Given the description of an element on the screen output the (x, y) to click on. 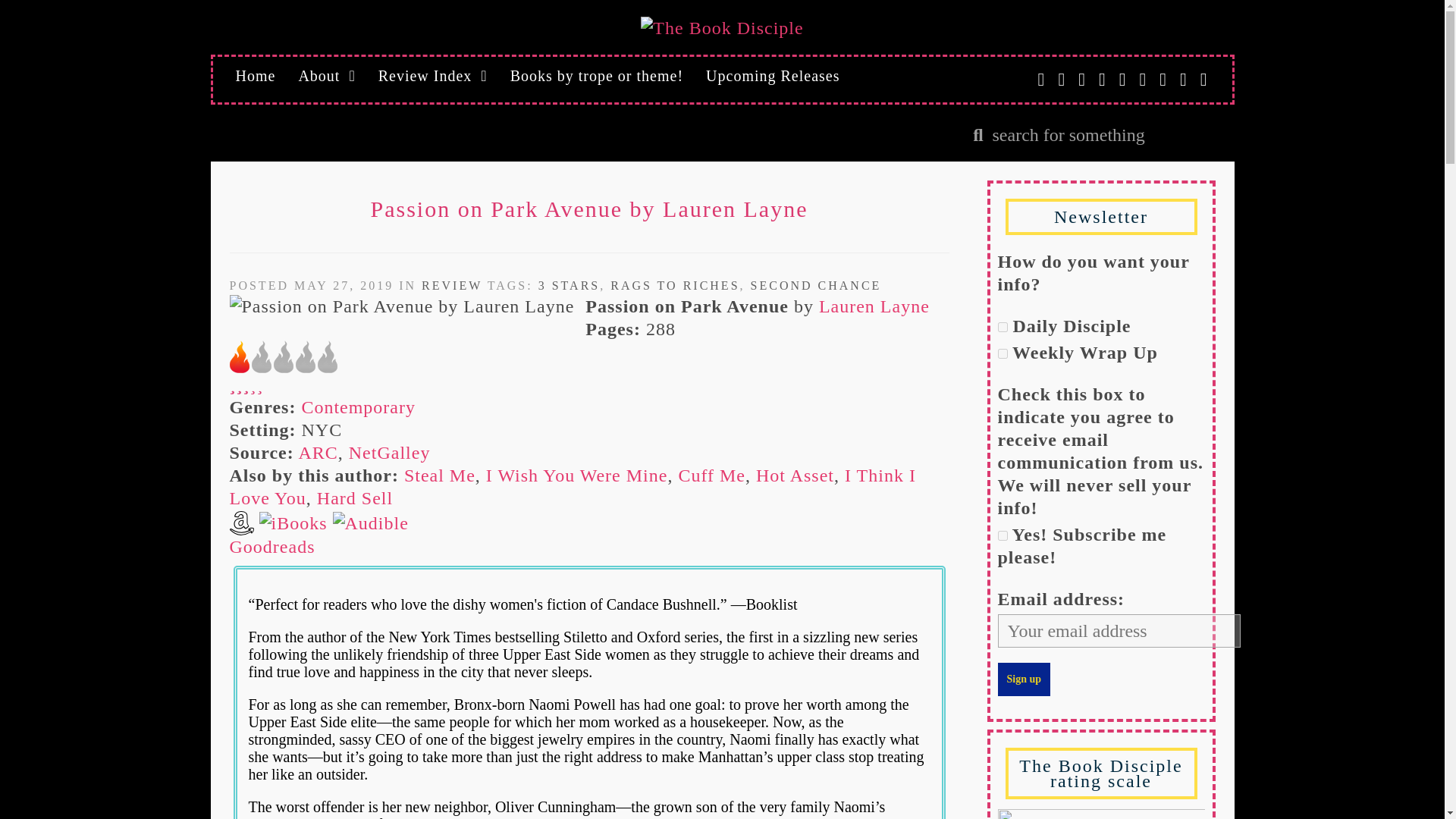
ab7c8b567e (1002, 535)
ARC (317, 452)
a8df5c4d04 (1002, 353)
Contemporary (357, 406)
Books by trope or theme! (596, 75)
Sign up (1024, 679)
Home (255, 75)
I Wish You Were Mine (577, 475)
Passion on Park Avenue by Lauren Layne (400, 305)
SECOND CHANCE (816, 285)
